Given the description of an element on the screen output the (x, y) to click on. 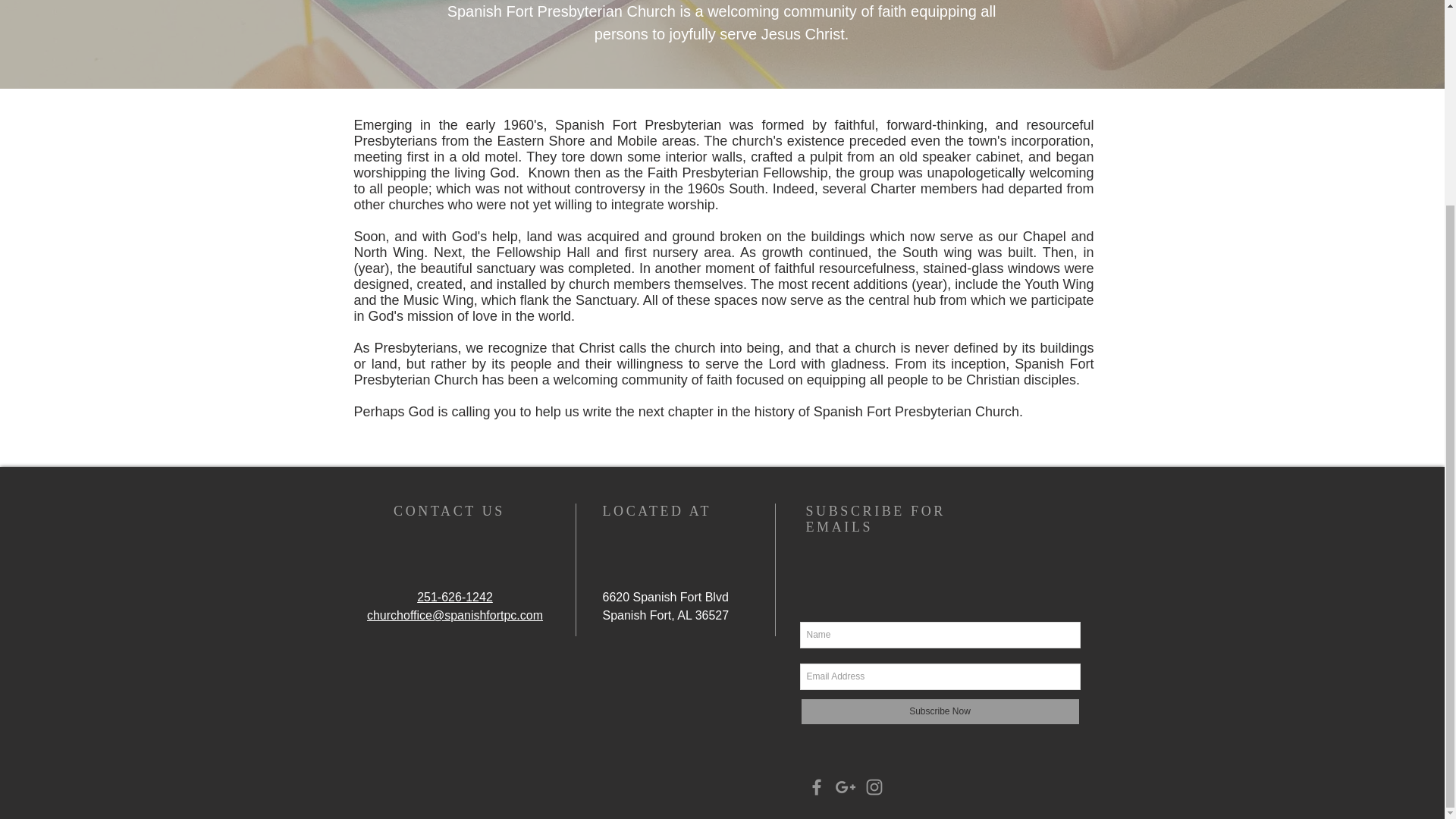
251-626-1242 (454, 596)
Subscribe Now (939, 711)
